Given the description of an element on the screen output the (x, y) to click on. 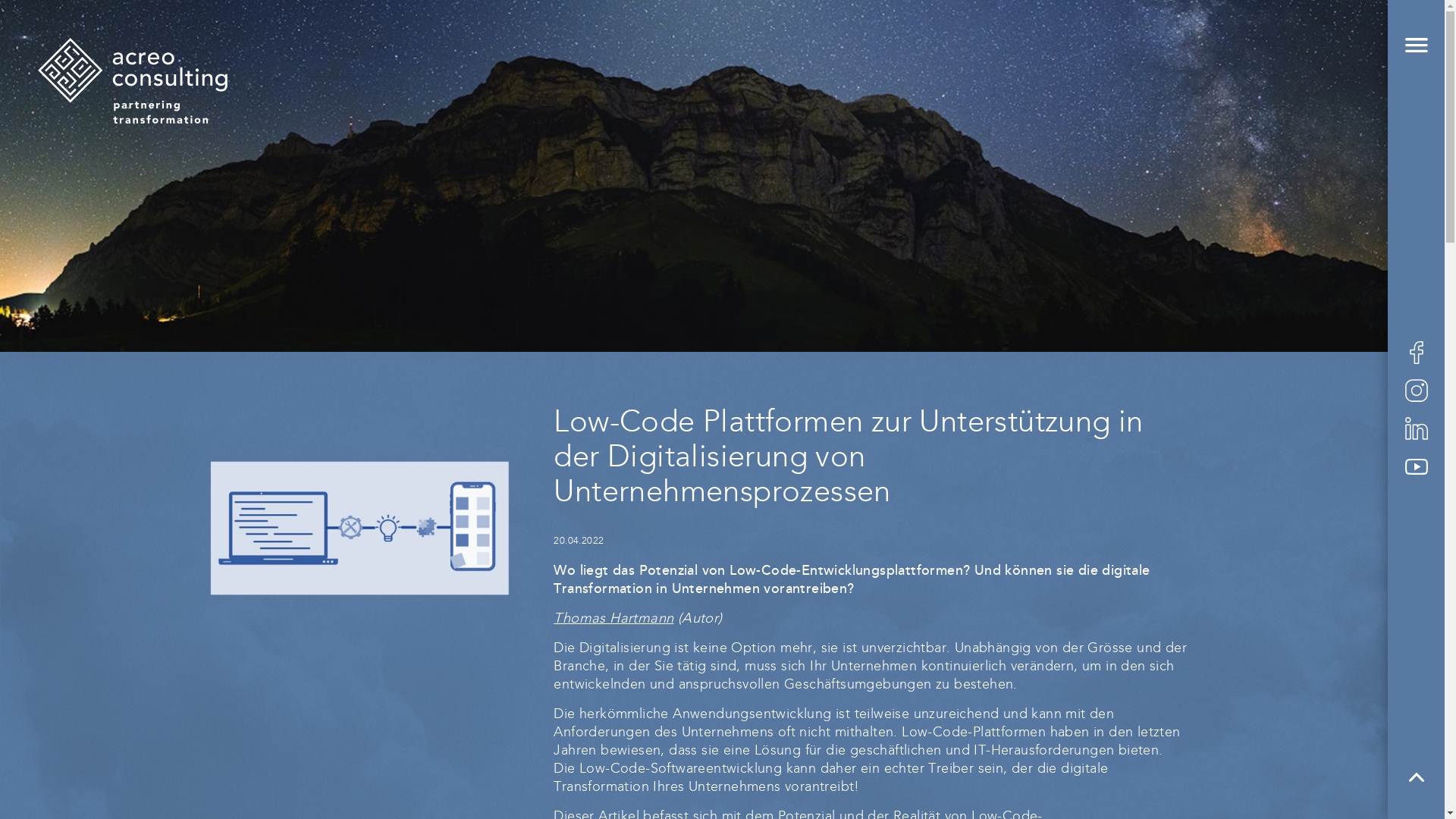
Startseite Element type: hover (132, 119)
acreo consulting bei YouTube Element type: hover (1415, 466)
acreo consulting bei Instagram Element type: hover (1415, 390)
acreo consulting bei LinkedIn Element type: hover (1415, 428)
acreo consulting bei Facebook Element type: hover (1415, 352)
Thomas Hartmann Element type: text (613, 618)
acreo consulting ag Element type: hover (132, 80)
